Given the description of an element on the screen output the (x, y) to click on. 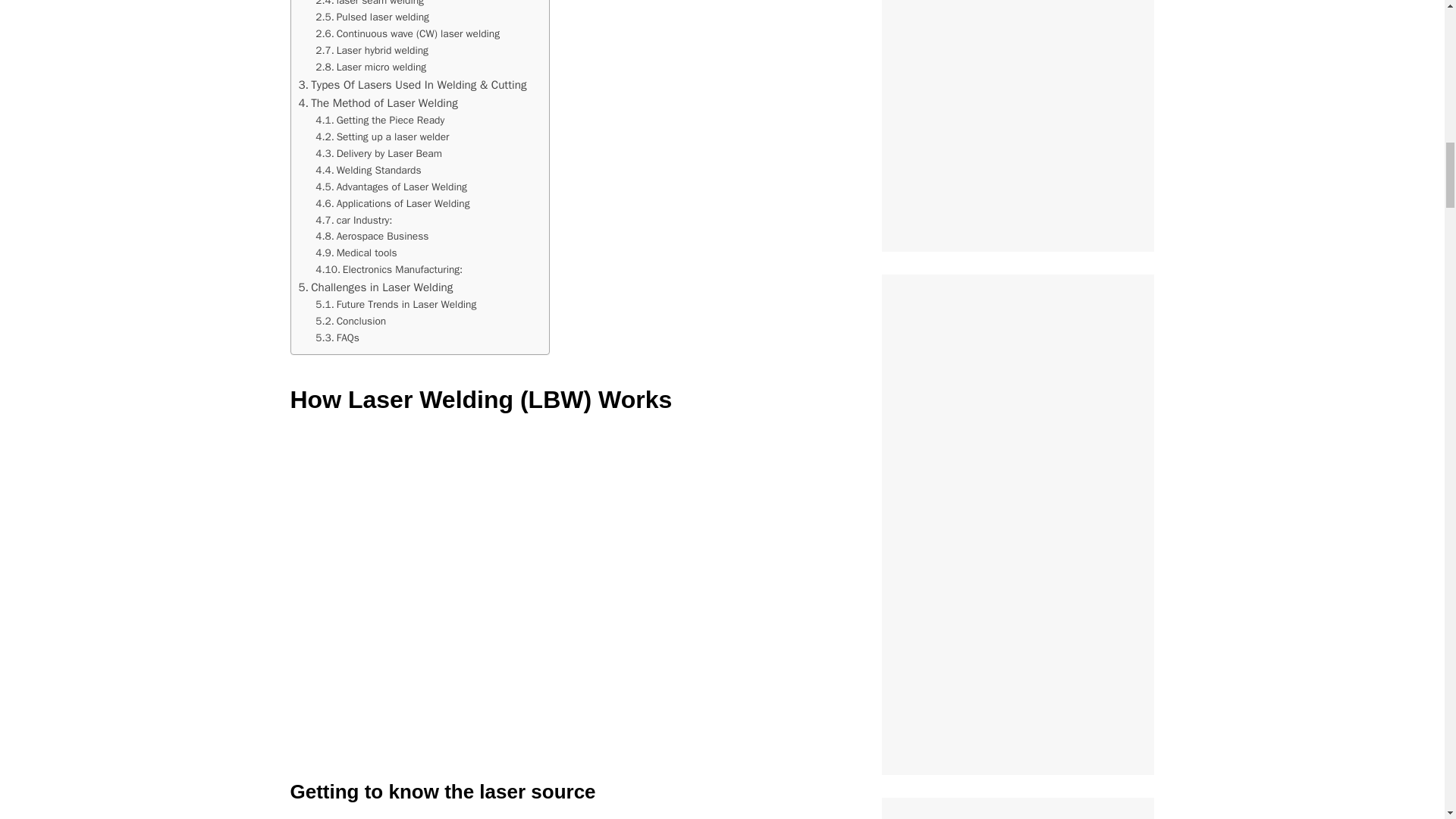
Getting the Piece Ready (379, 120)
laser seam welding  (370, 4)
Laser hybrid welding (371, 50)
Laser hybrid welding (371, 50)
Pulsed laser welding (372, 17)
Pulsed laser welding (372, 17)
The Method of Laser Welding (378, 103)
The Method of Laser Welding (378, 103)
